Given the description of an element on the screen output the (x, y) to click on. 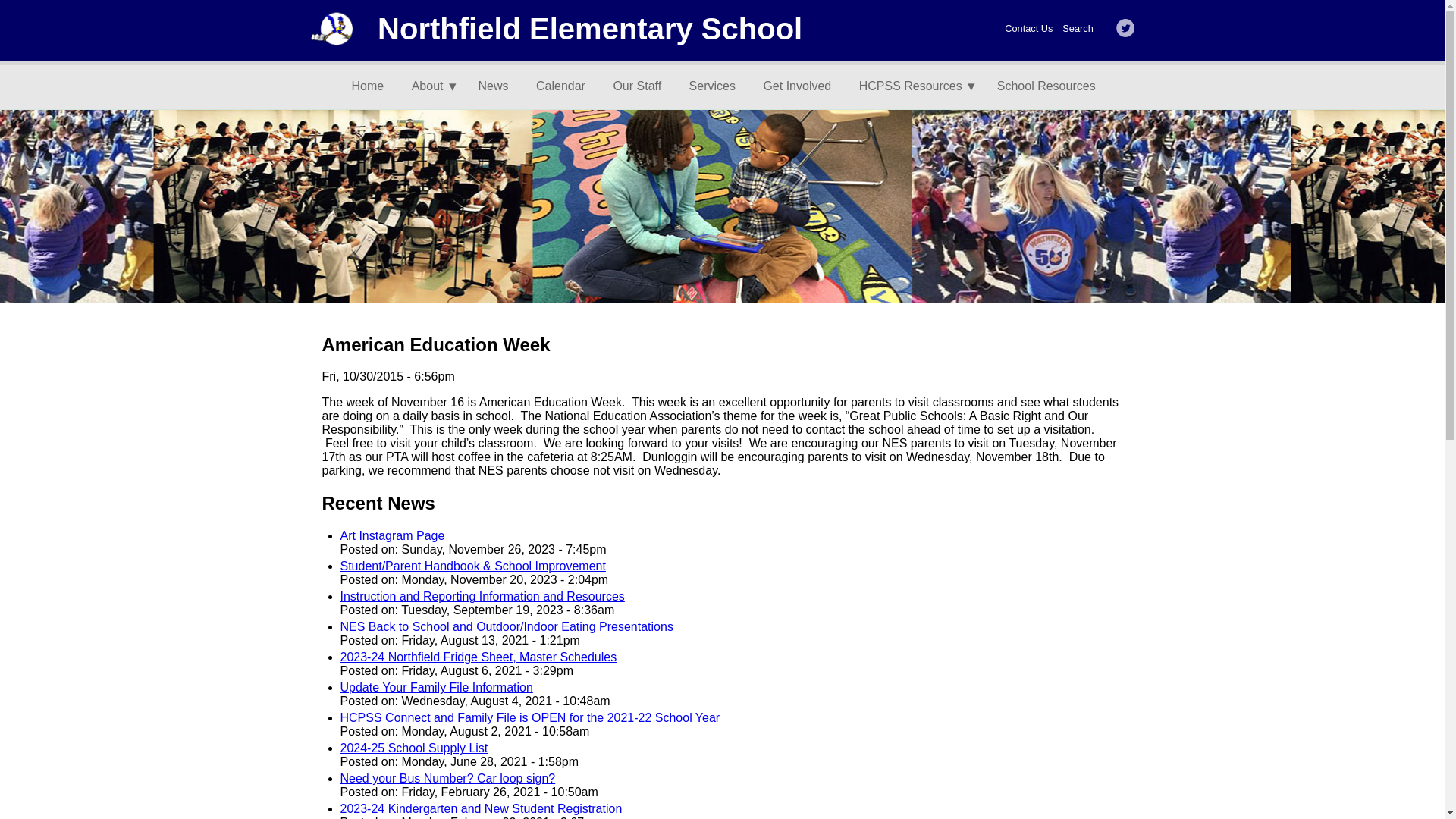
Get Involved (802, 85)
2024-25 School Supply List (413, 748)
Art Instagram Page (391, 535)
Search (1077, 28)
HCPSS Resources (914, 85)
Our Staff (642, 85)
Home (374, 85)
Update Your Family File Information (435, 686)
Contact Us (1028, 28)
News (500, 85)
Instruction and Reporting Information and Resources (481, 595)
Northfield Elementary School (589, 28)
Calendar (565, 85)
Need your Bus Number? Car loop sign? (446, 778)
2023-24 Kindergarten and New Student Registration (480, 808)
